Given the description of an element on the screen output the (x, y) to click on. 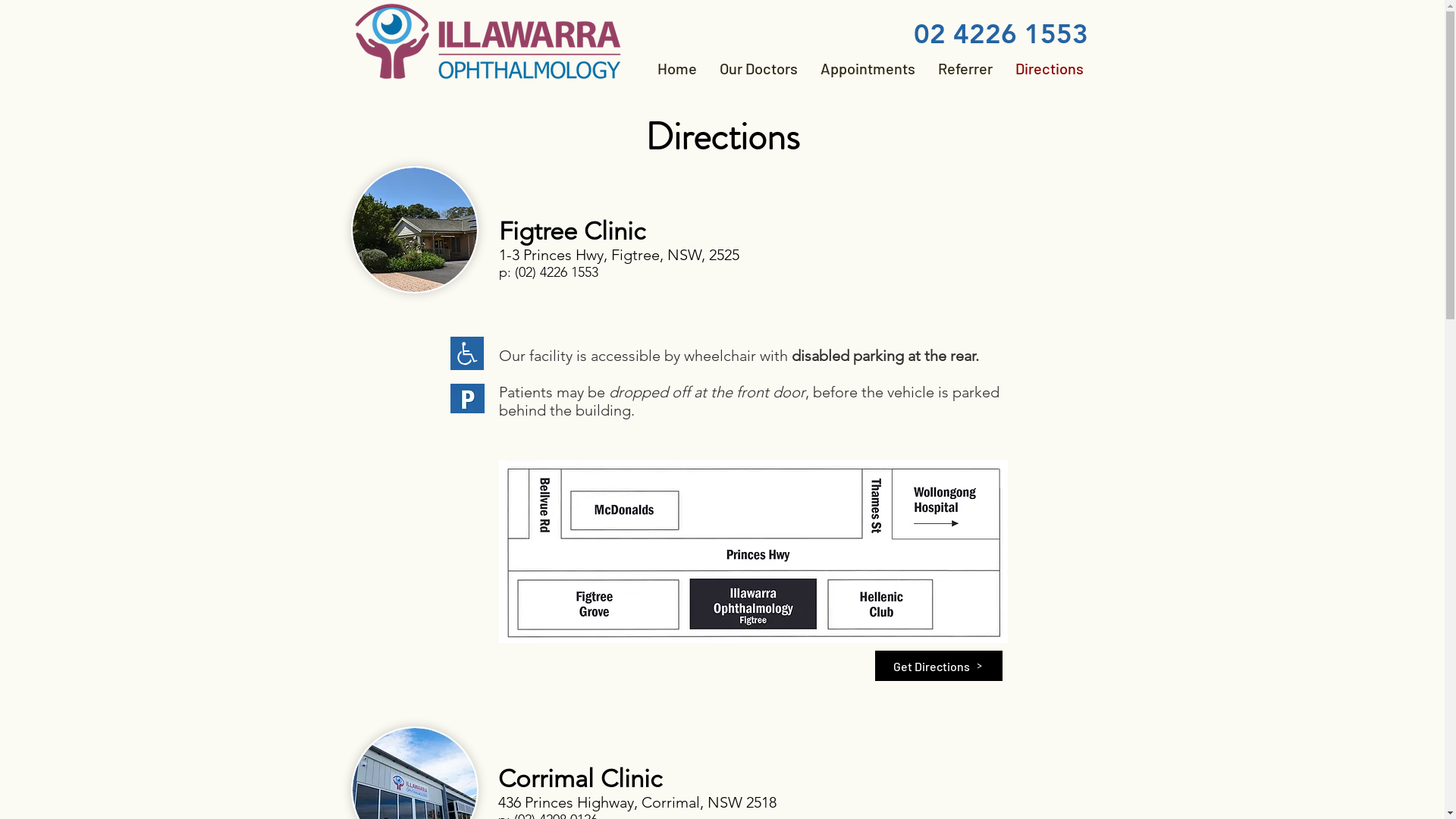
Directions Element type: text (1049, 68)
Our Doctors Element type: text (758, 68)
02 4226 1553 Element type: text (1000, 33)
Referrer Element type: text (965, 68)
Get Directions Element type: text (938, 665)
Home Element type: text (677, 68)
Appointments Element type: text (866, 68)
